Given the description of an element on the screen output the (x, y) to click on. 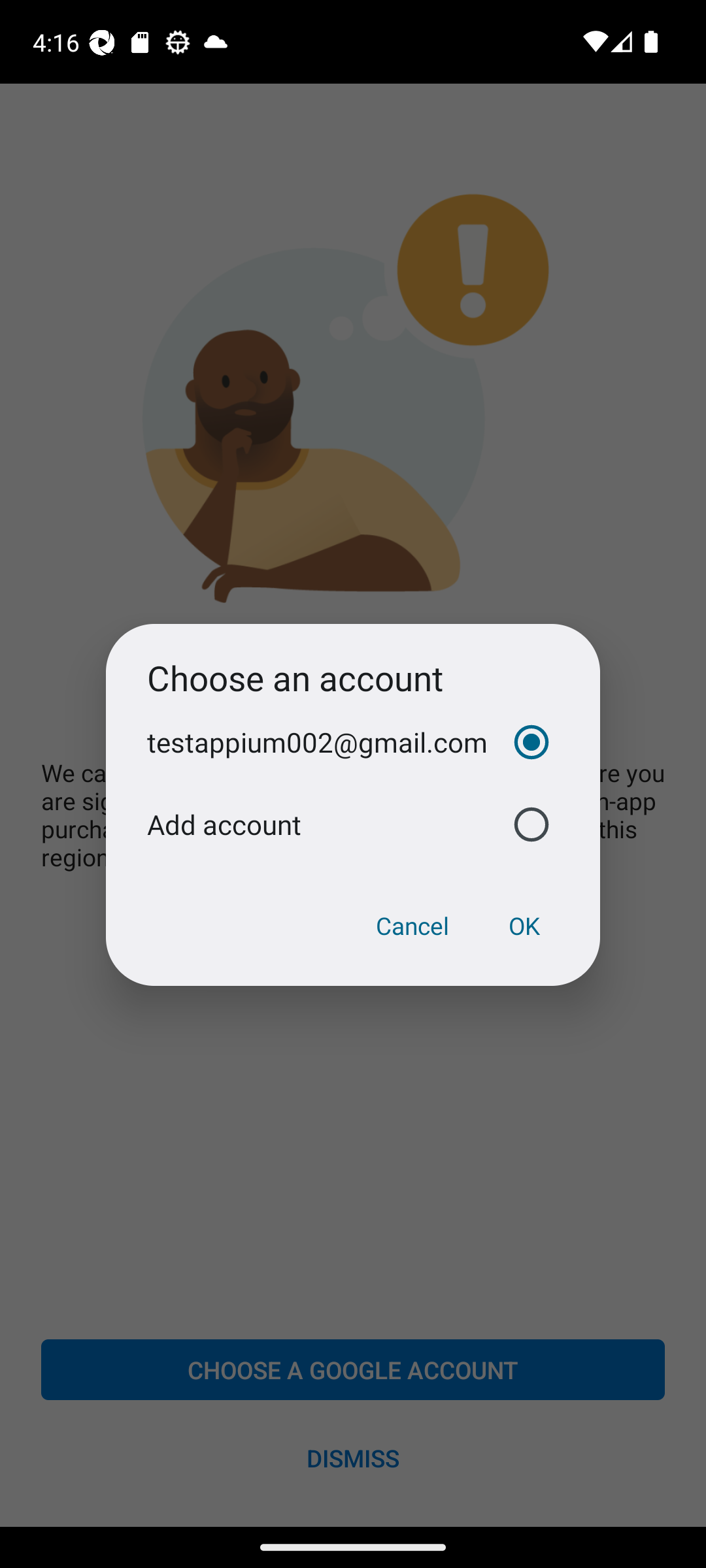
testappium002@gmail.com (352, 742)
Add account (352, 824)
Cancel (412, 925)
OK (523, 925)
